Given the description of an element on the screen output the (x, y) to click on. 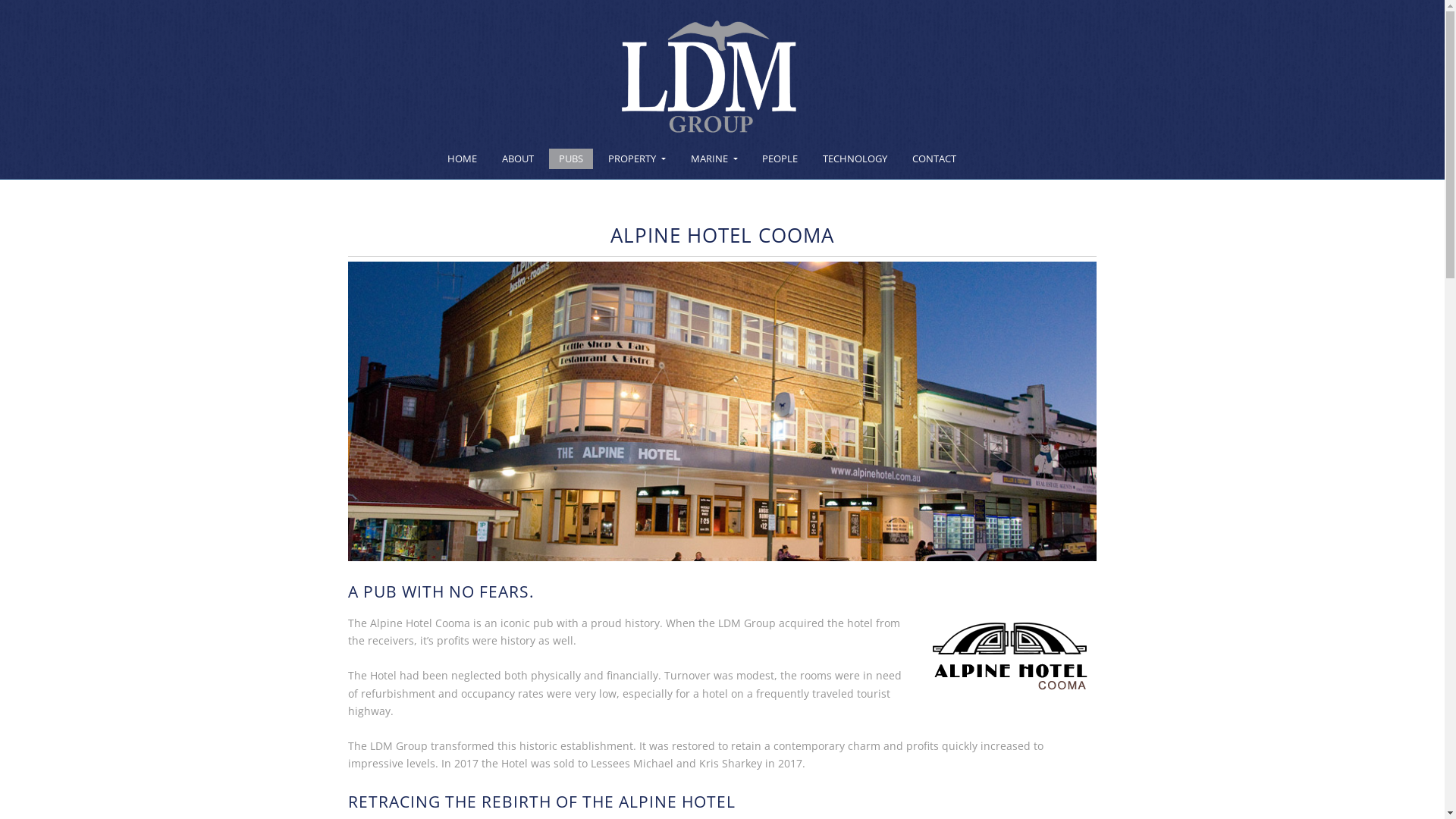
PUBS Element type: text (571, 158)
PEOPLE Element type: text (779, 158)
MARINE Element type: text (713, 158)
CONTACT Element type: text (934, 158)
PROPERTY Element type: text (636, 158)
Turning under performers into over achievers. Element type: hover (709, 81)
HOME Element type: text (461, 158)
ABOUT Element type: text (517, 158)
TECHNOLOGY Element type: text (854, 158)
